Given the description of an element on the screen output the (x, y) to click on. 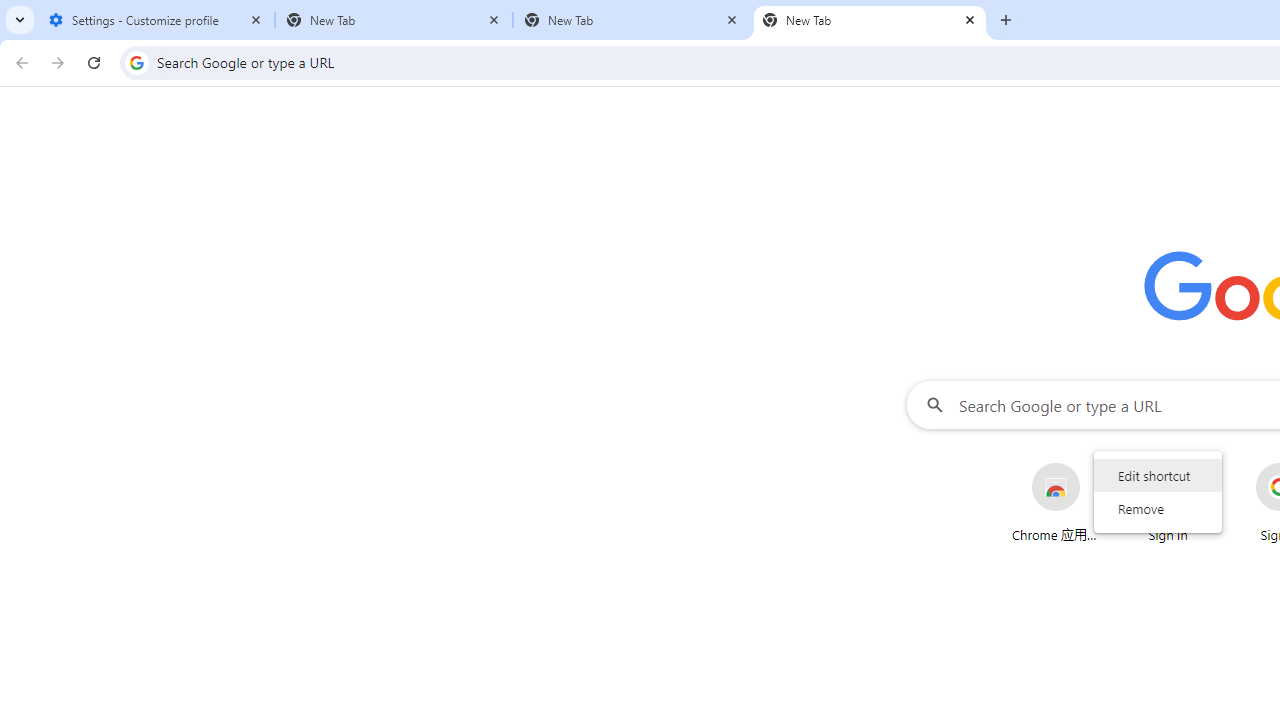
Edit shortcut (1158, 475)
